Given the description of an element on the screen output the (x, y) to click on. 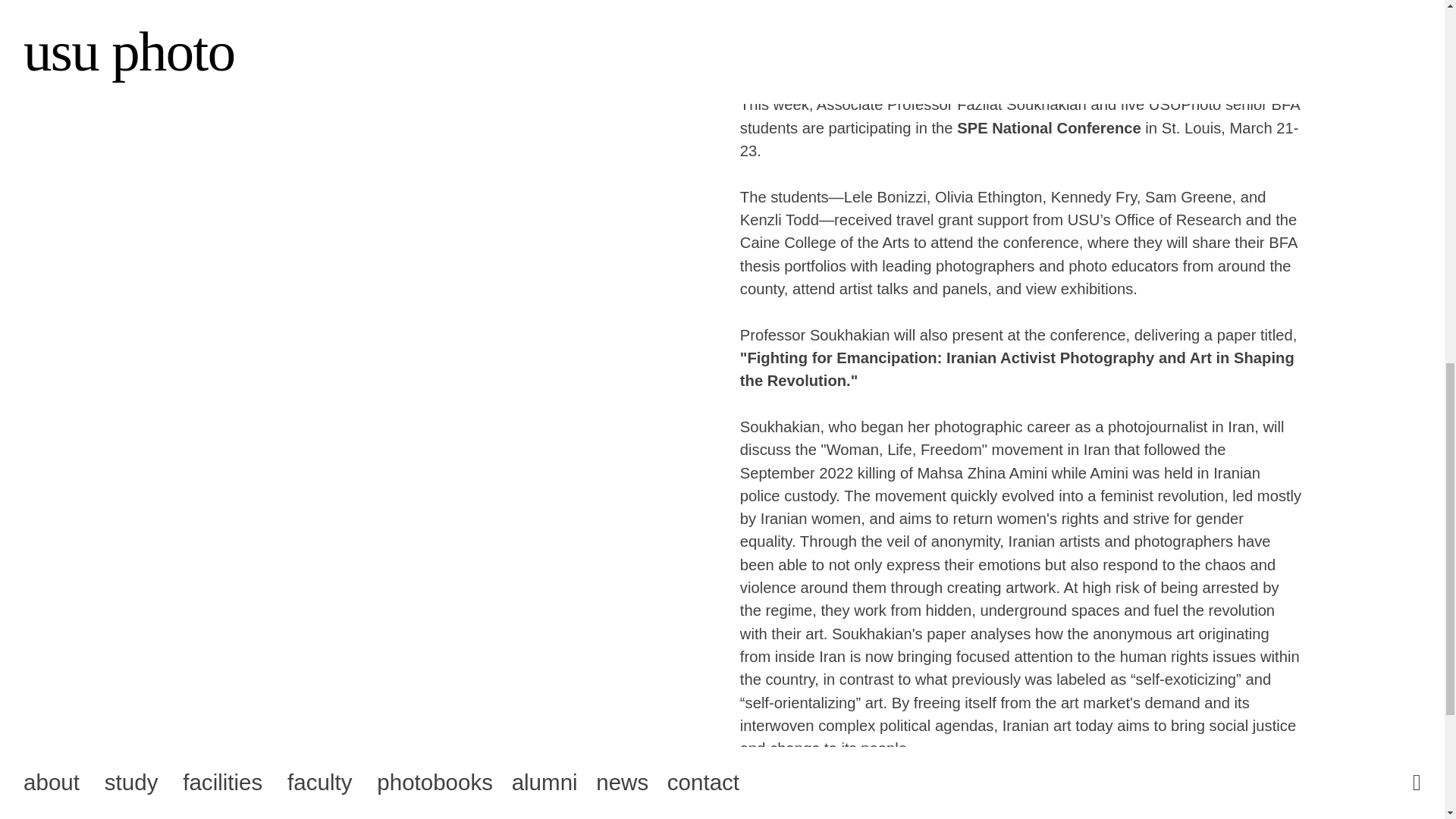
SPE National Conference (1048, 127)
SPE (754, 794)
